Given the description of an element on the screen output the (x, y) to click on. 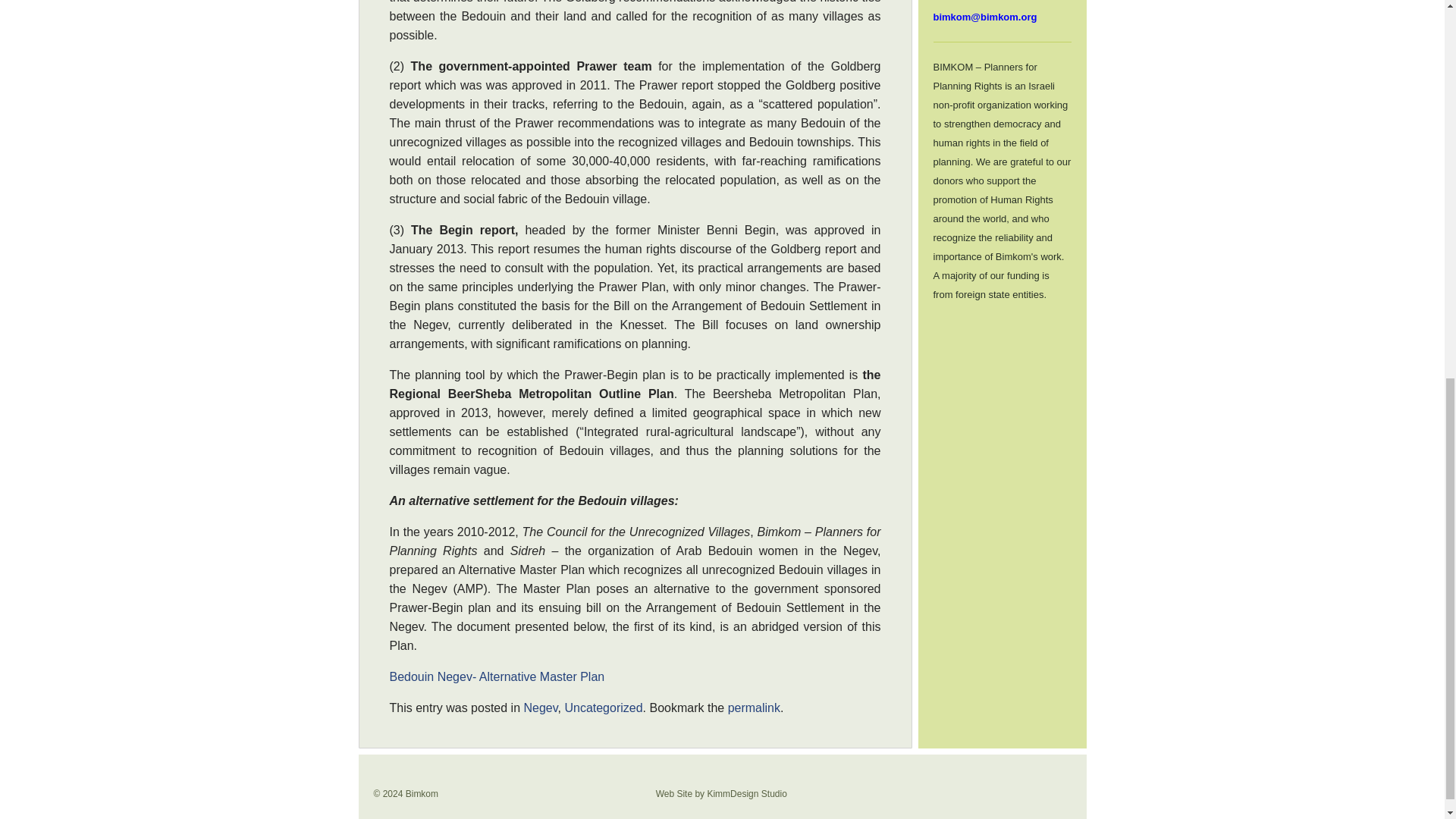
Bedouin Negev- Alternative Master Plan (497, 676)
Uncategorized (603, 707)
permalink (754, 707)
Negev (539, 707)
KimmDesign Studio (746, 793)
